Given the description of an element on the screen output the (x, y) to click on. 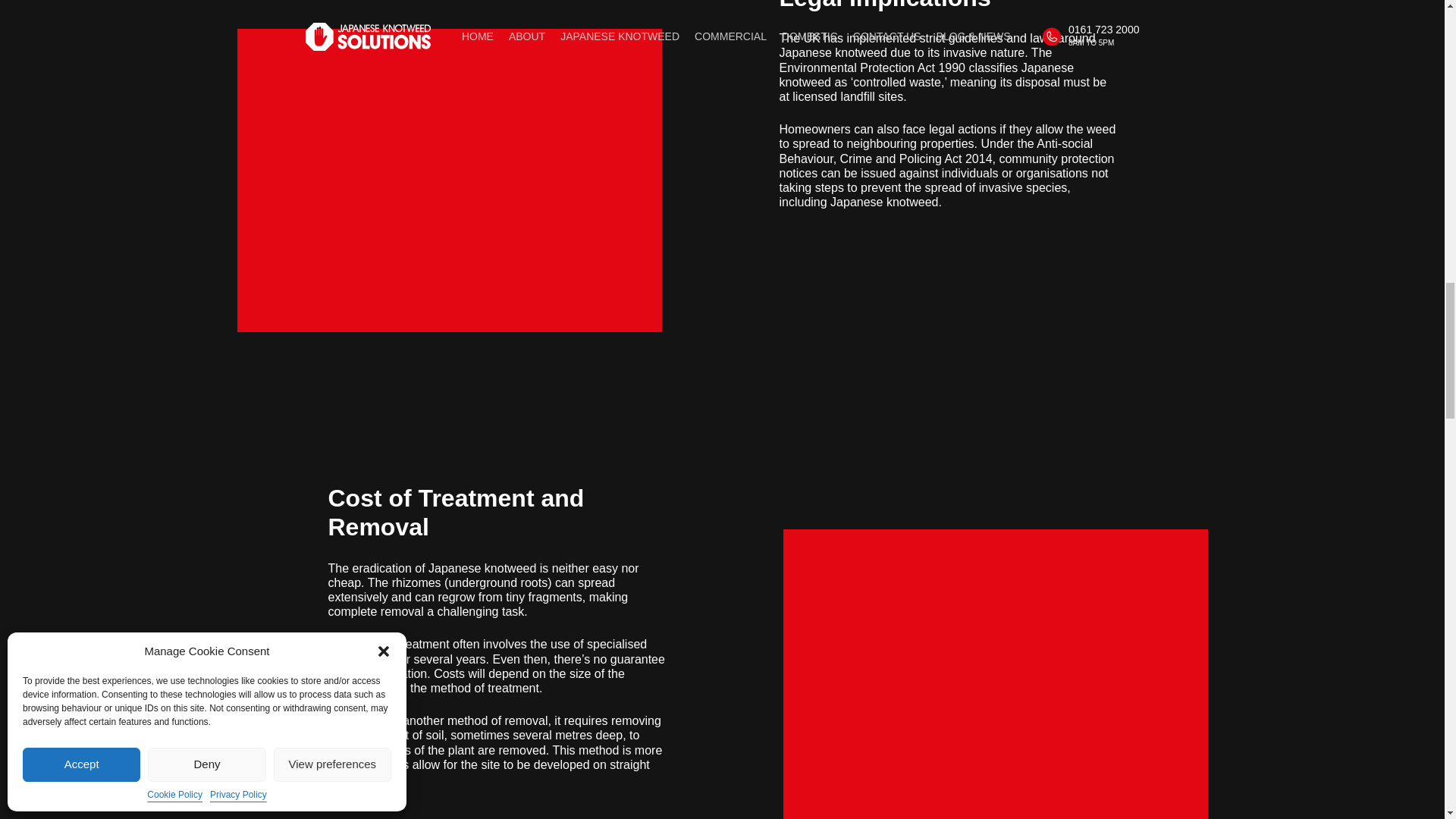
Financial Implications of Japanese Knotweed 5 (995, 674)
Financial Implications of Japanese Knotweed 4 (448, 180)
